Given the description of an element on the screen output the (x, y) to click on. 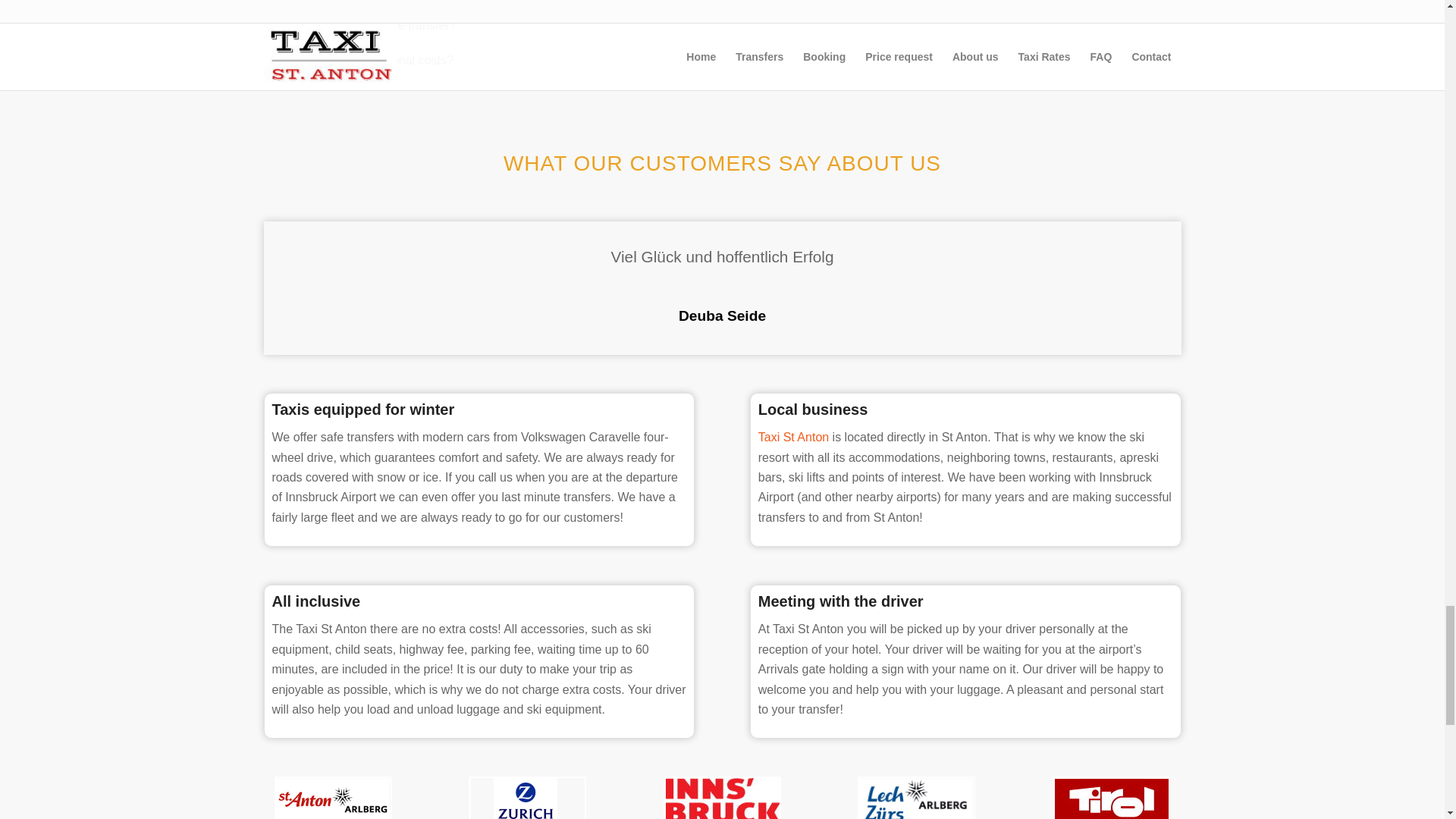
Zuerich Airport -1 (527, 797)
Innsbruck Airport -1 (721, 797)
Taxi St Anton (793, 436)
St Anton am Arlberg-1 (333, 797)
Lech am Arlberg-1 (916, 797)
